Given the description of an element on the screen output the (x, y) to click on. 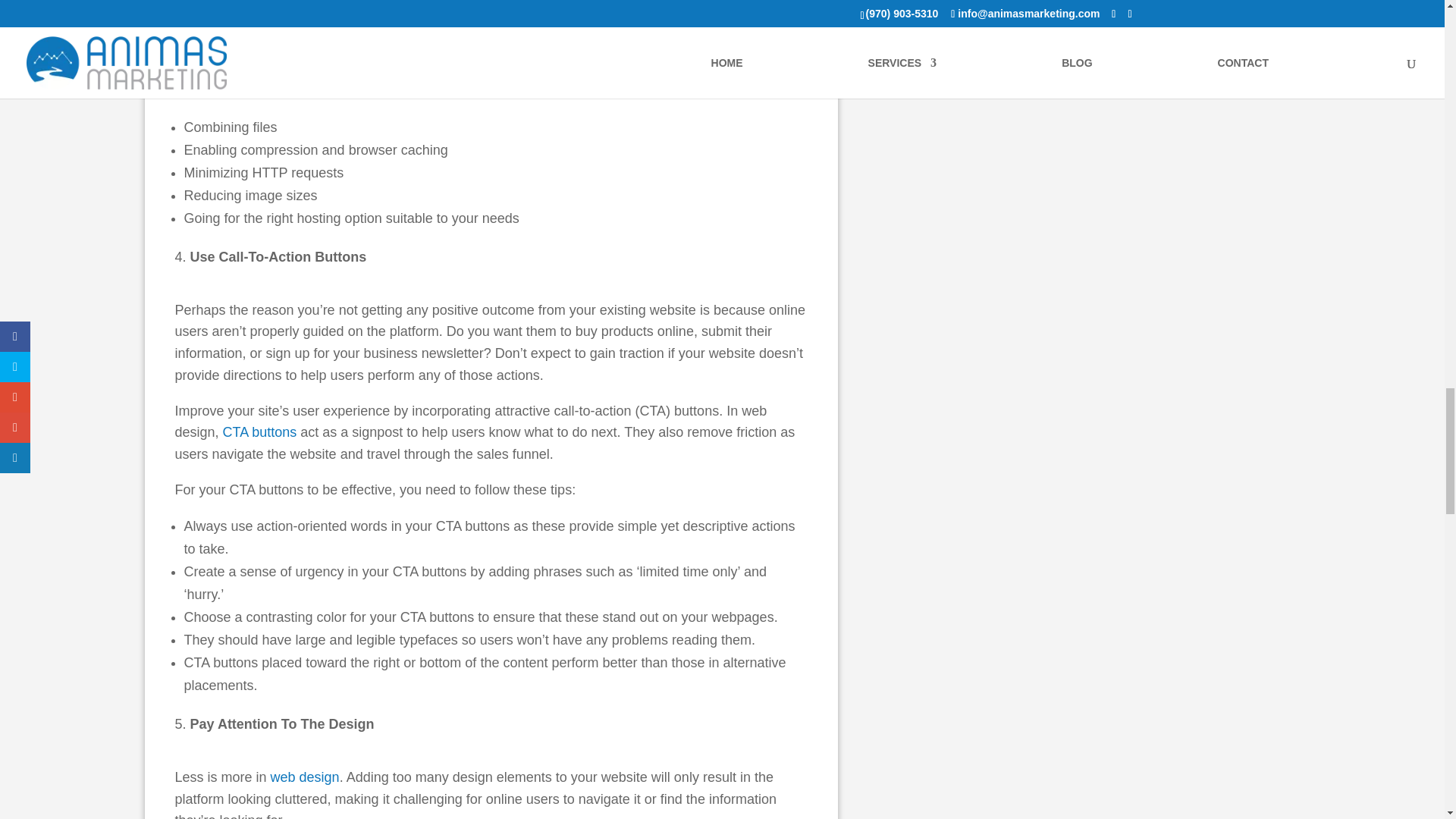
web design (304, 776)
CTA buttons (259, 432)
